Given the description of an element on the screen output the (x, y) to click on. 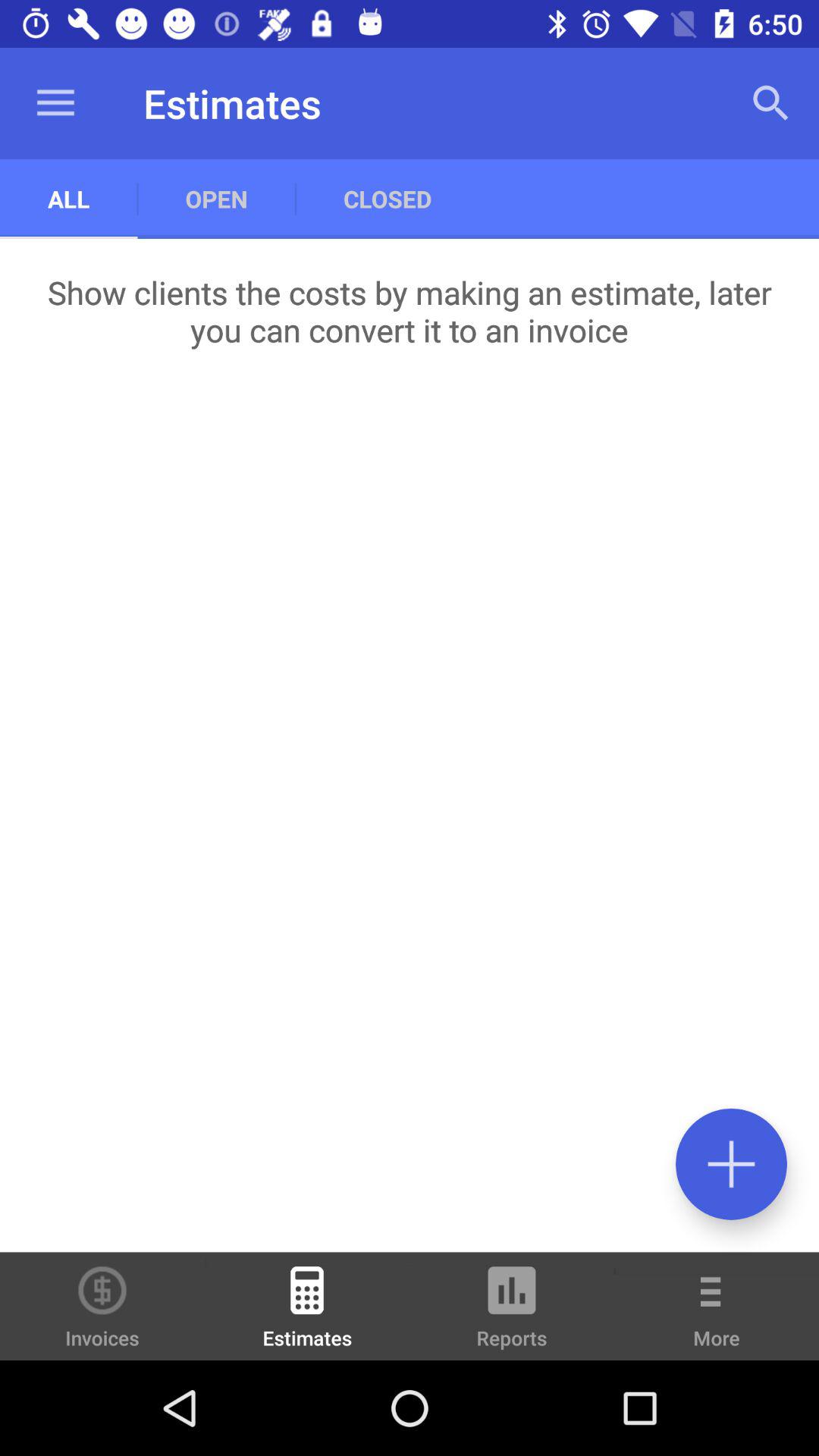
turn off the icon next to estimates item (511, 1313)
